Given the description of an element on the screen output the (x, y) to click on. 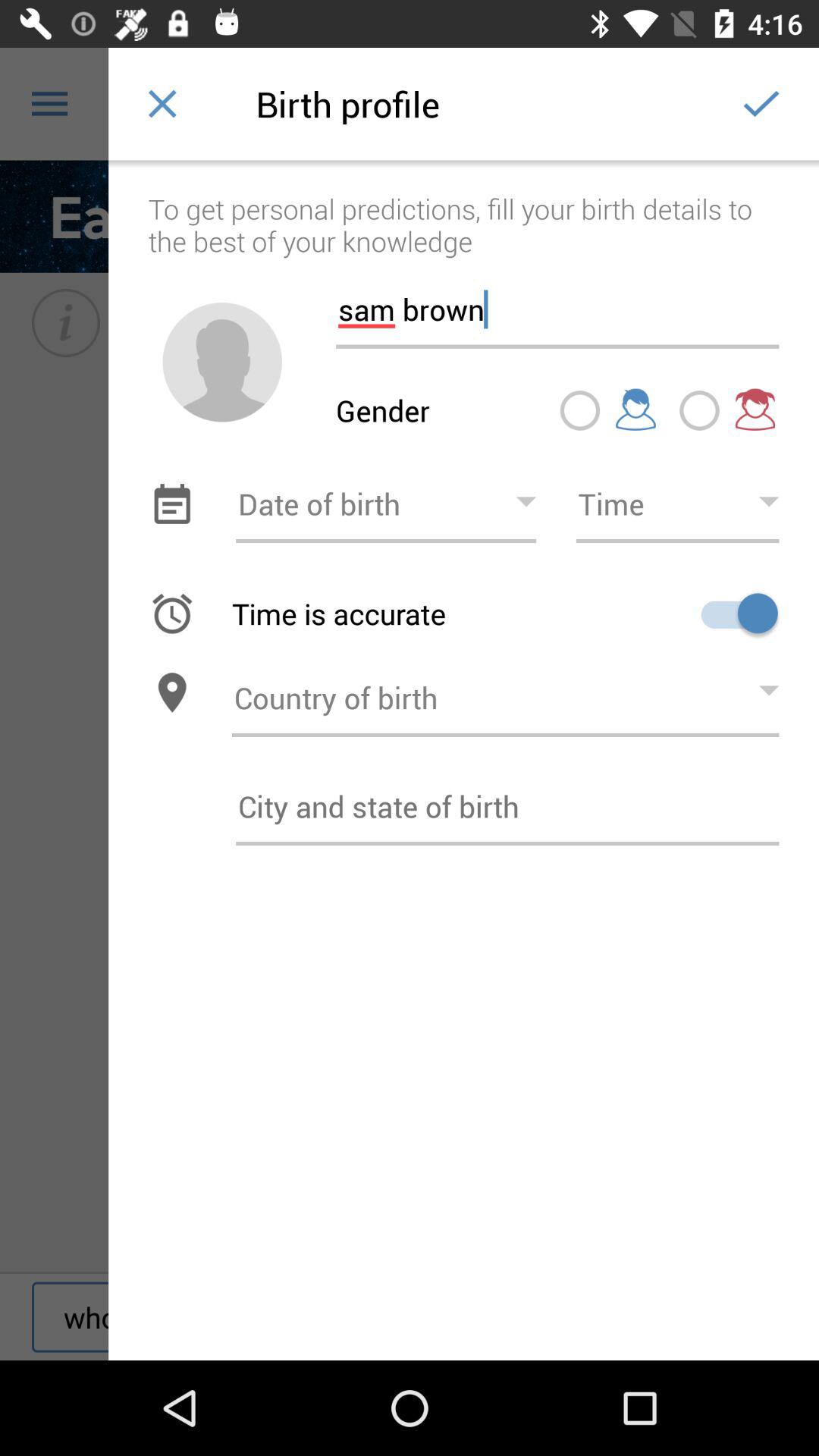
profile (222, 362)
